Given the description of an element on the screen output the (x, y) to click on. 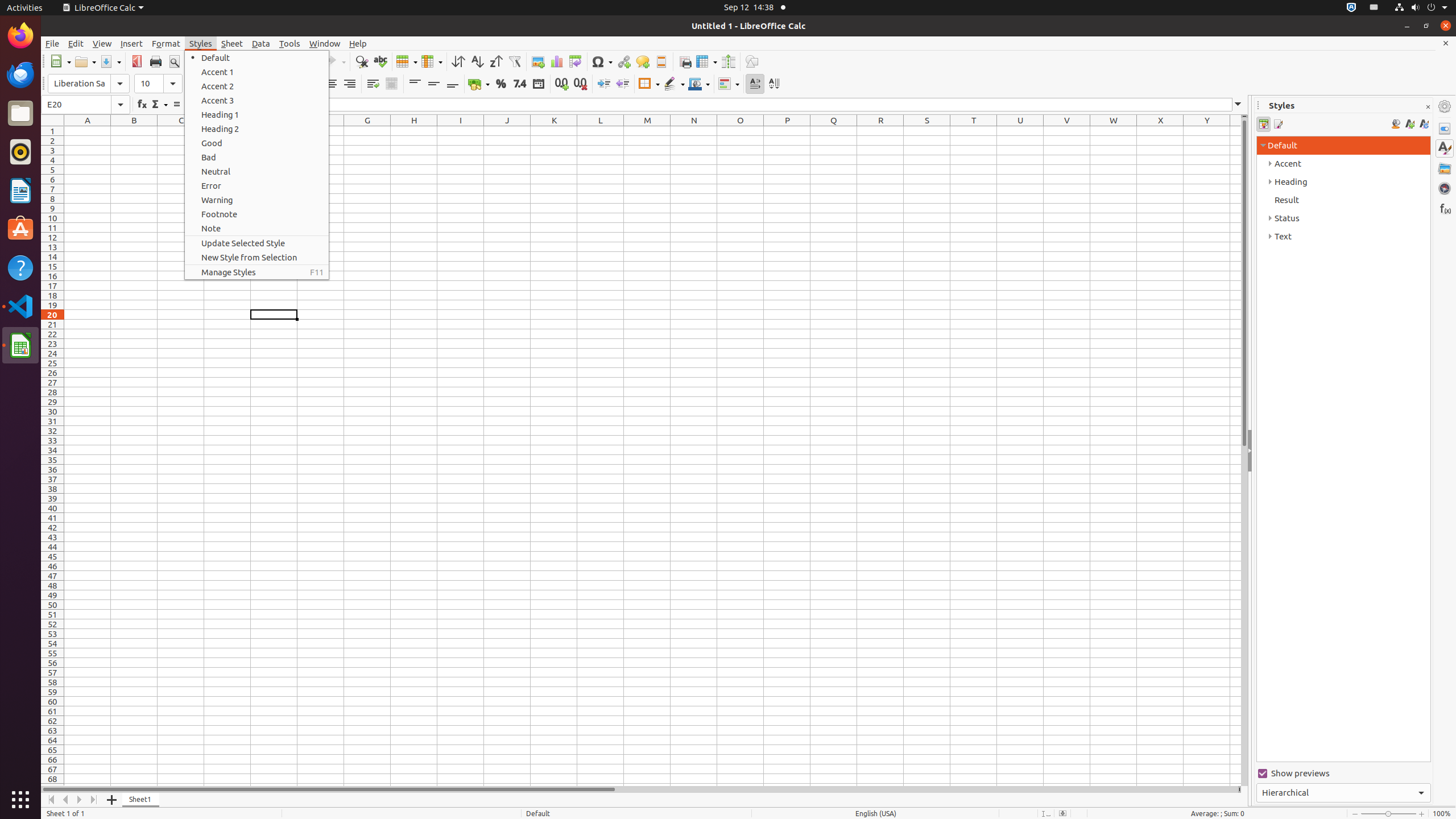
Draw Functions Element type: toggle-button (751, 61)
Sort Descending Element type: push-button (495, 61)
S1 Element type: table-cell (926, 130)
Footnote Element type: radio-menu-item (256, 214)
L1 Element type: table-cell (600, 130)
